Given the description of an element on the screen output the (x, y) to click on. 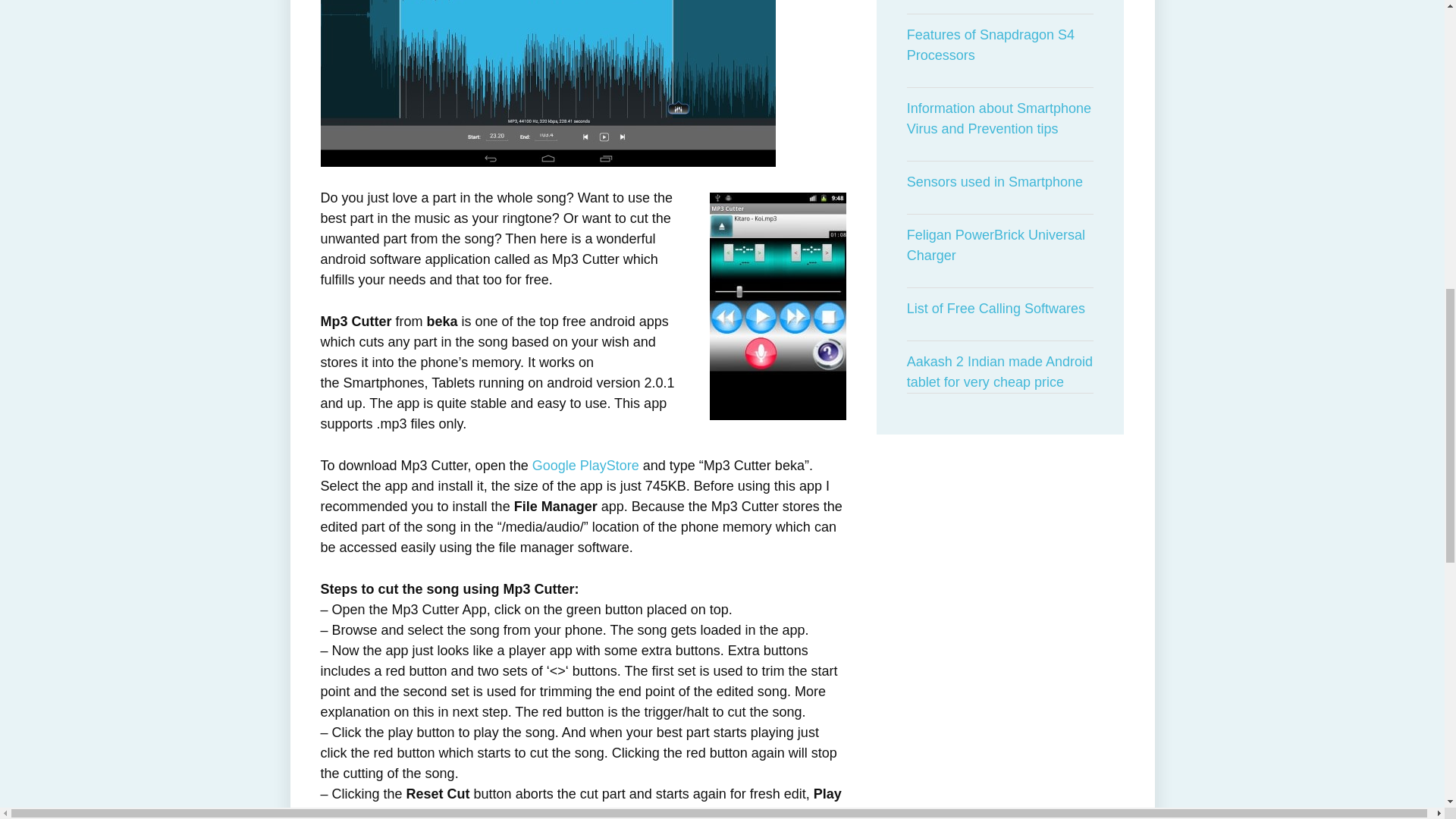
Feligan PowerBrick Universal Charger (1000, 245)
Sensors used in Smartphone (1000, 181)
Features of Snapdragon S4 Processors (1000, 45)
Information about Smartphone Virus and Prevention tips (1000, 118)
Google PlayStore (585, 465)
List of Free Calling Softwares (1000, 308)
Aakash 2 Indian made Android tablet for very cheap price (1000, 372)
